Given the description of an element on the screen output the (x, y) to click on. 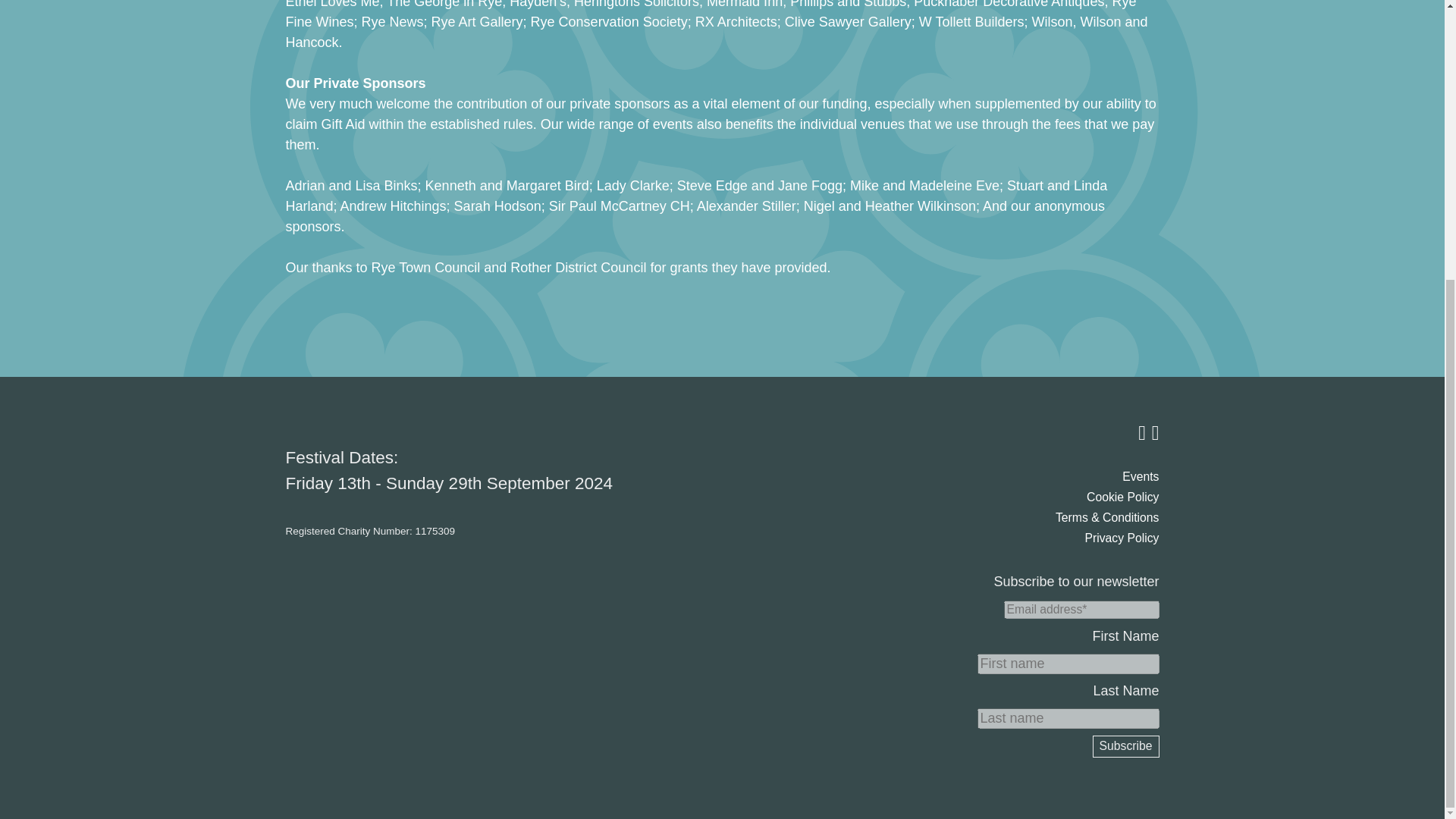
Subscribe (1125, 746)
Subscribe (1125, 746)
Cookie Policy (1122, 496)
Events (1140, 476)
Privacy Policy (1121, 537)
